Given the description of an element on the screen output the (x, y) to click on. 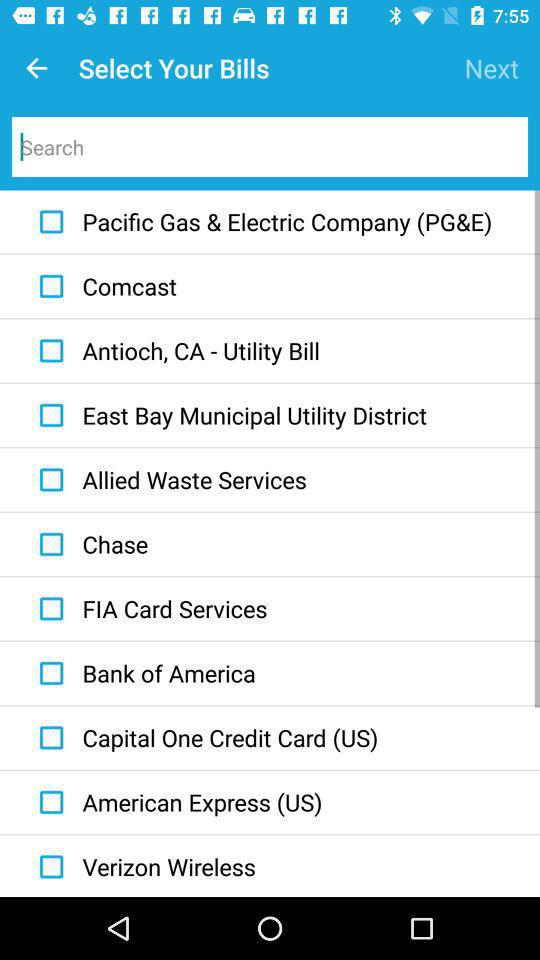
choose item next to the select your bills (491, 67)
